Given the description of an element on the screen output the (x, y) to click on. 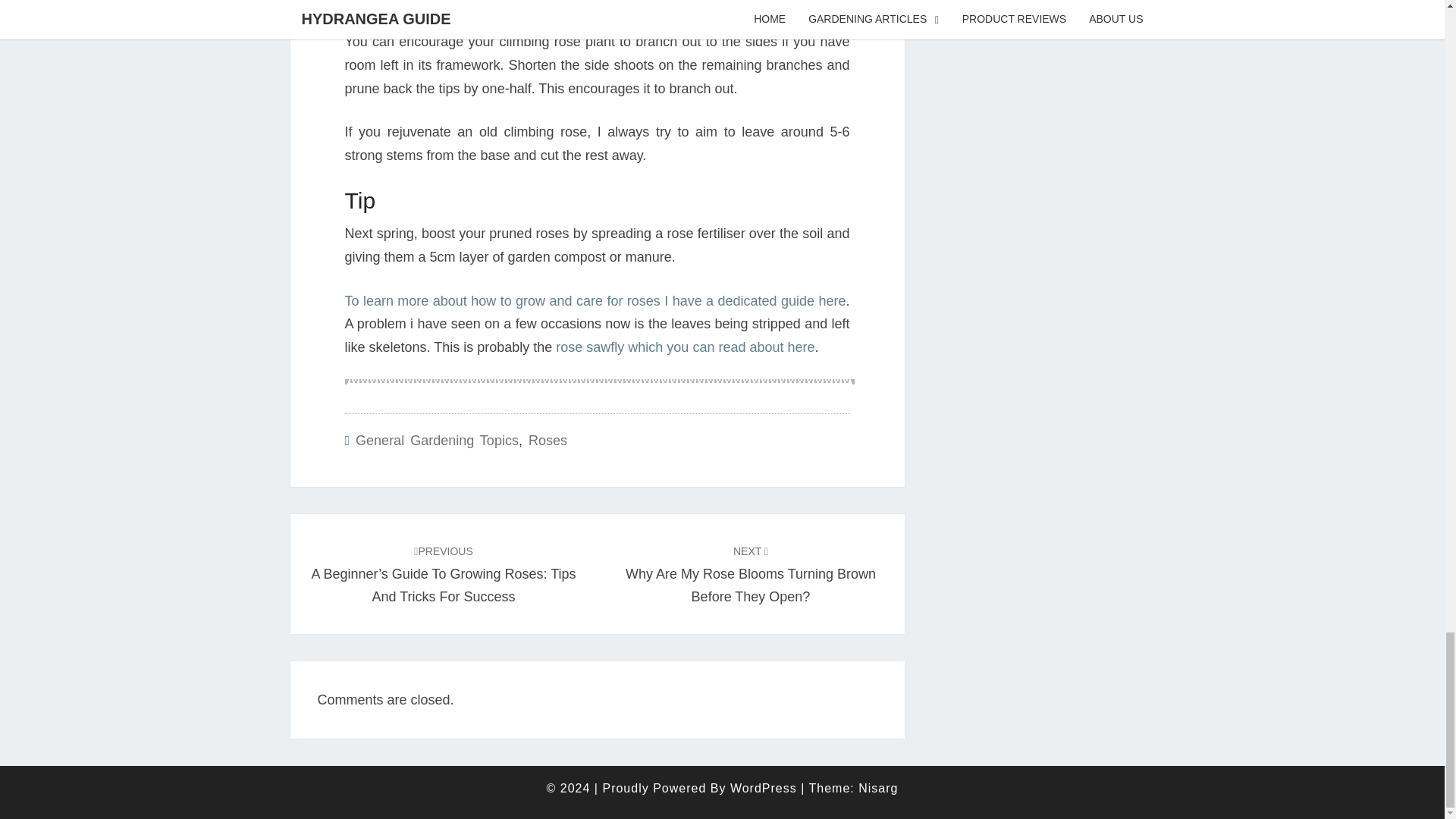
rose sawfly which you can read about here (684, 346)
General Gardening Topics (751, 573)
Roses (436, 440)
